Given the description of an element on the screen output the (x, y) to click on. 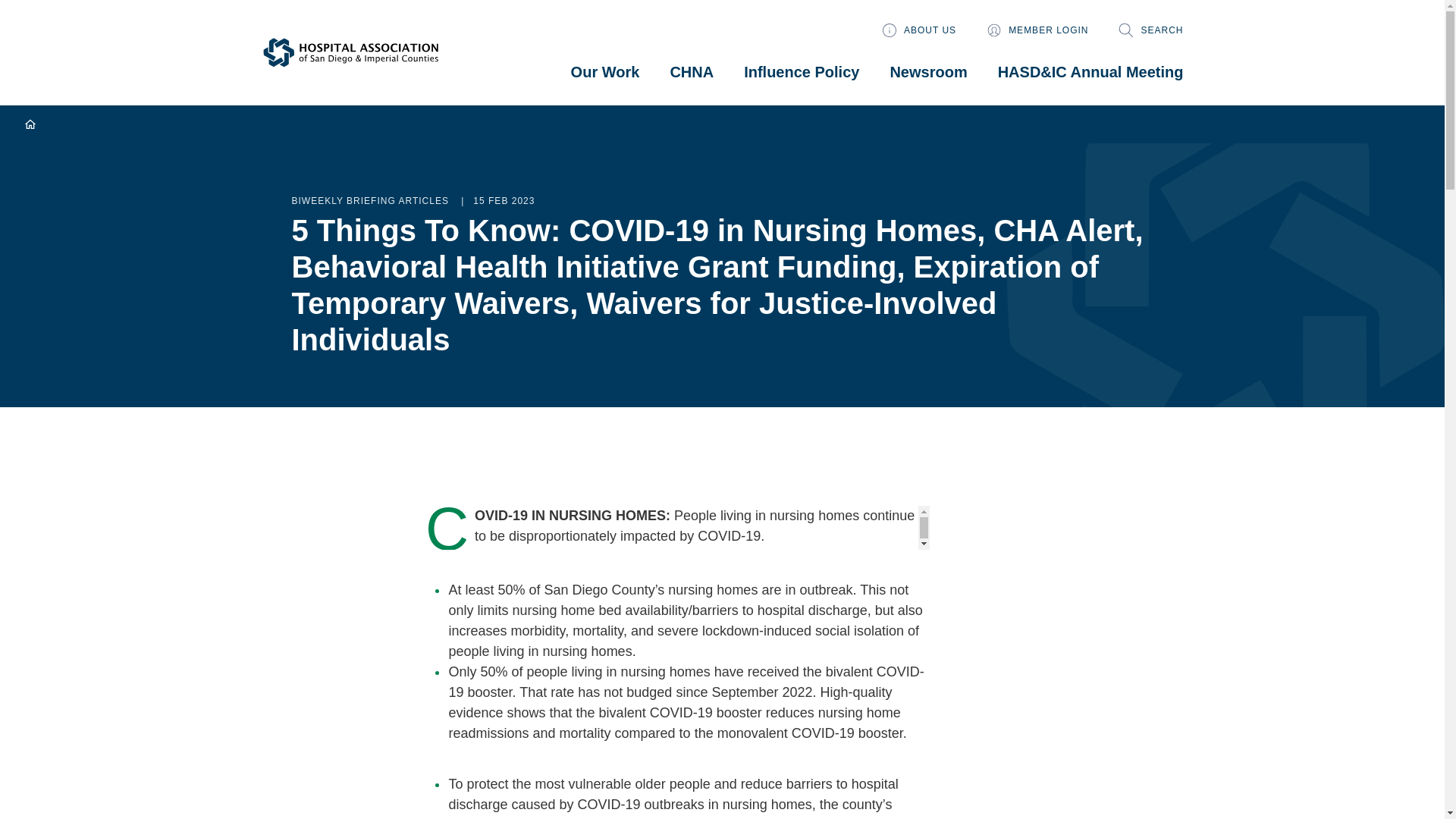
CHNA (691, 71)
Our Work (605, 71)
Influence Policy (801, 71)
Newsroom (927, 71)
ABOUT US (919, 29)
SEARCH (1150, 29)
MEMBER LOGIN (1037, 29)
